Given the description of an element on the screen output the (x, y) to click on. 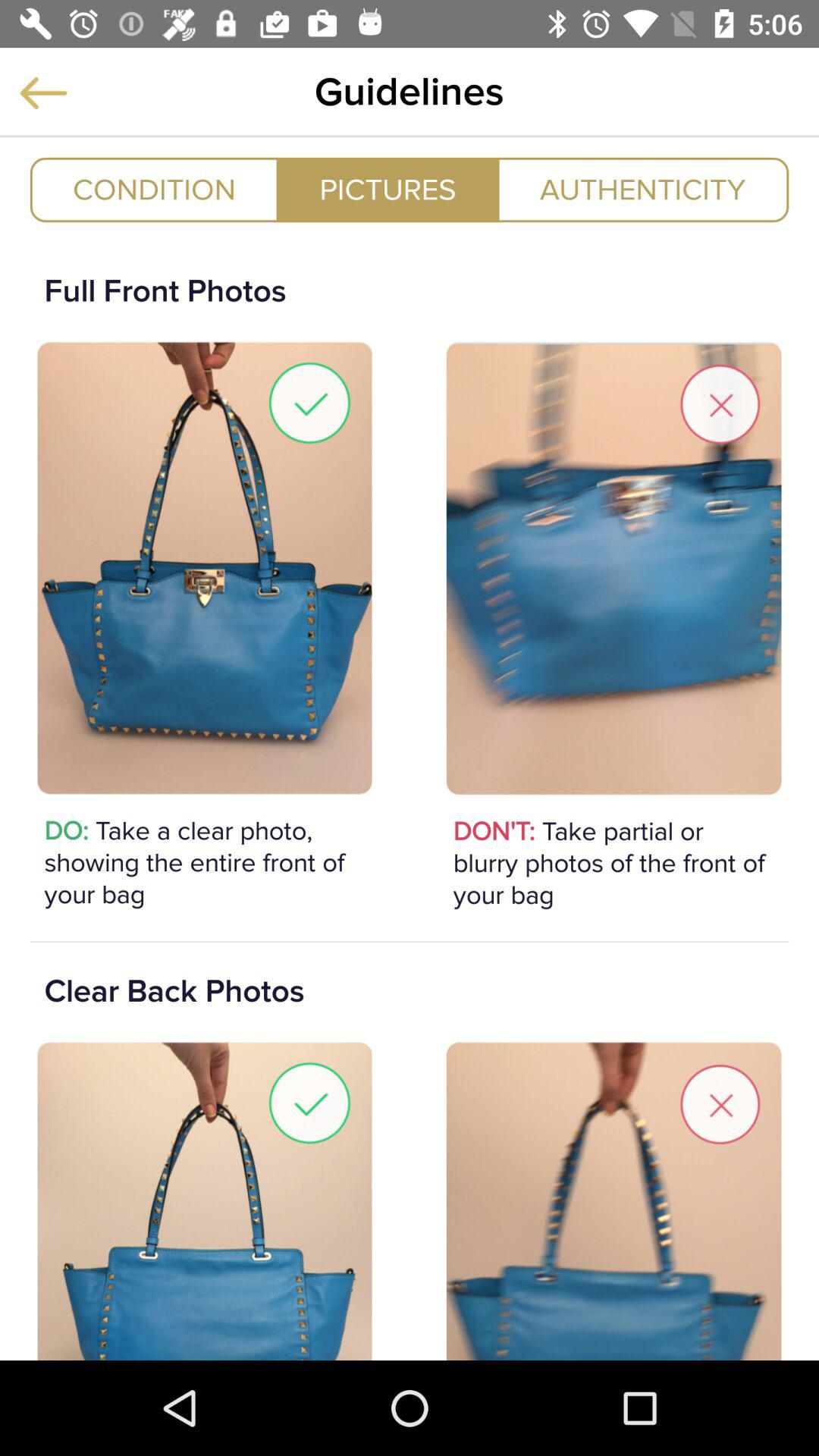
launch item above condition item (43, 92)
